Given the description of an element on the screen output the (x, y) to click on. 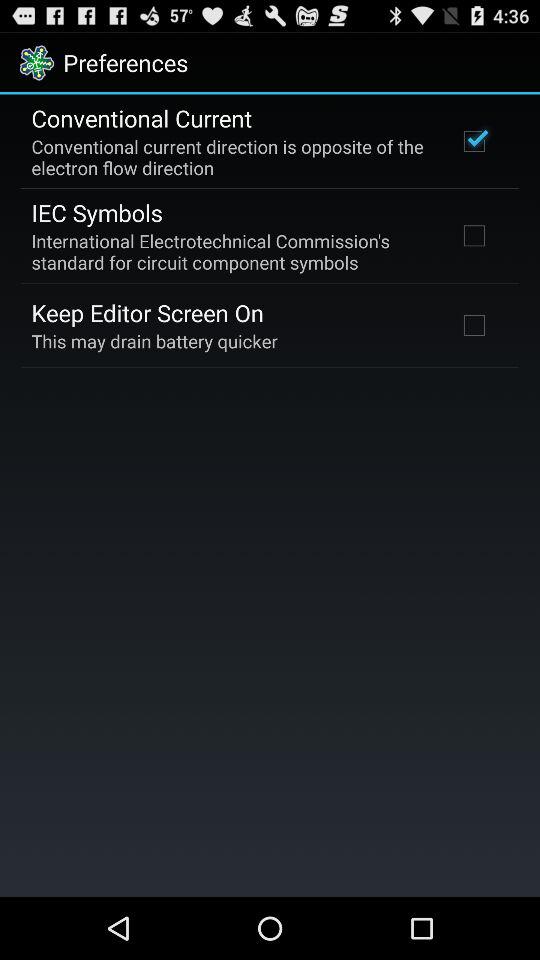
select this may drain on the left (154, 340)
